Given the description of an element on the screen output the (x, y) to click on. 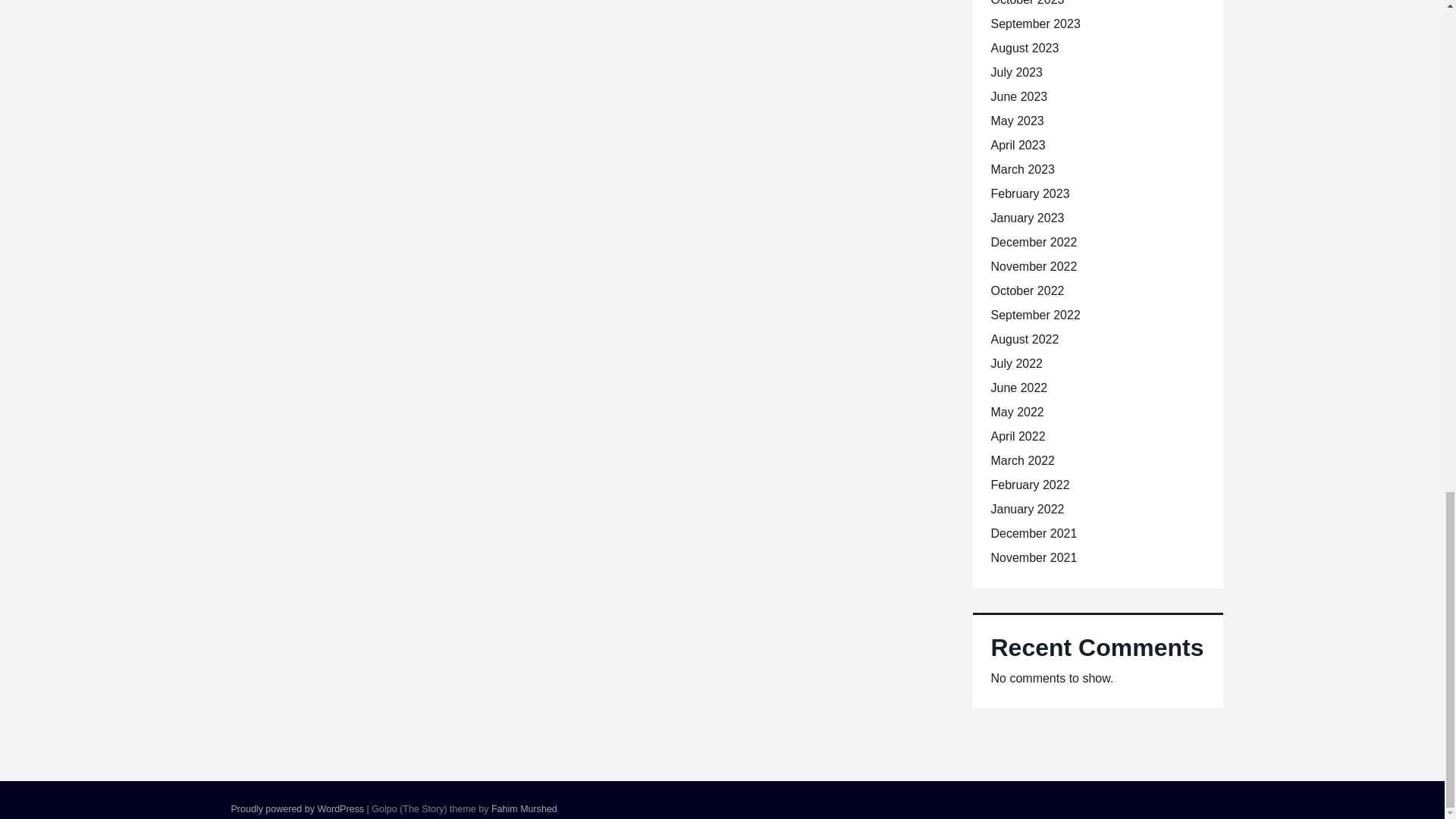
April 2023 (1017, 144)
May 2023 (1016, 120)
December 2022 (1033, 241)
March 2023 (1022, 169)
October 2023 (1027, 2)
August 2023 (1024, 47)
July 2023 (1016, 72)
February 2023 (1029, 193)
November 2022 (1033, 266)
September 2023 (1035, 23)
